Given the description of an element on the screen output the (x, y) to click on. 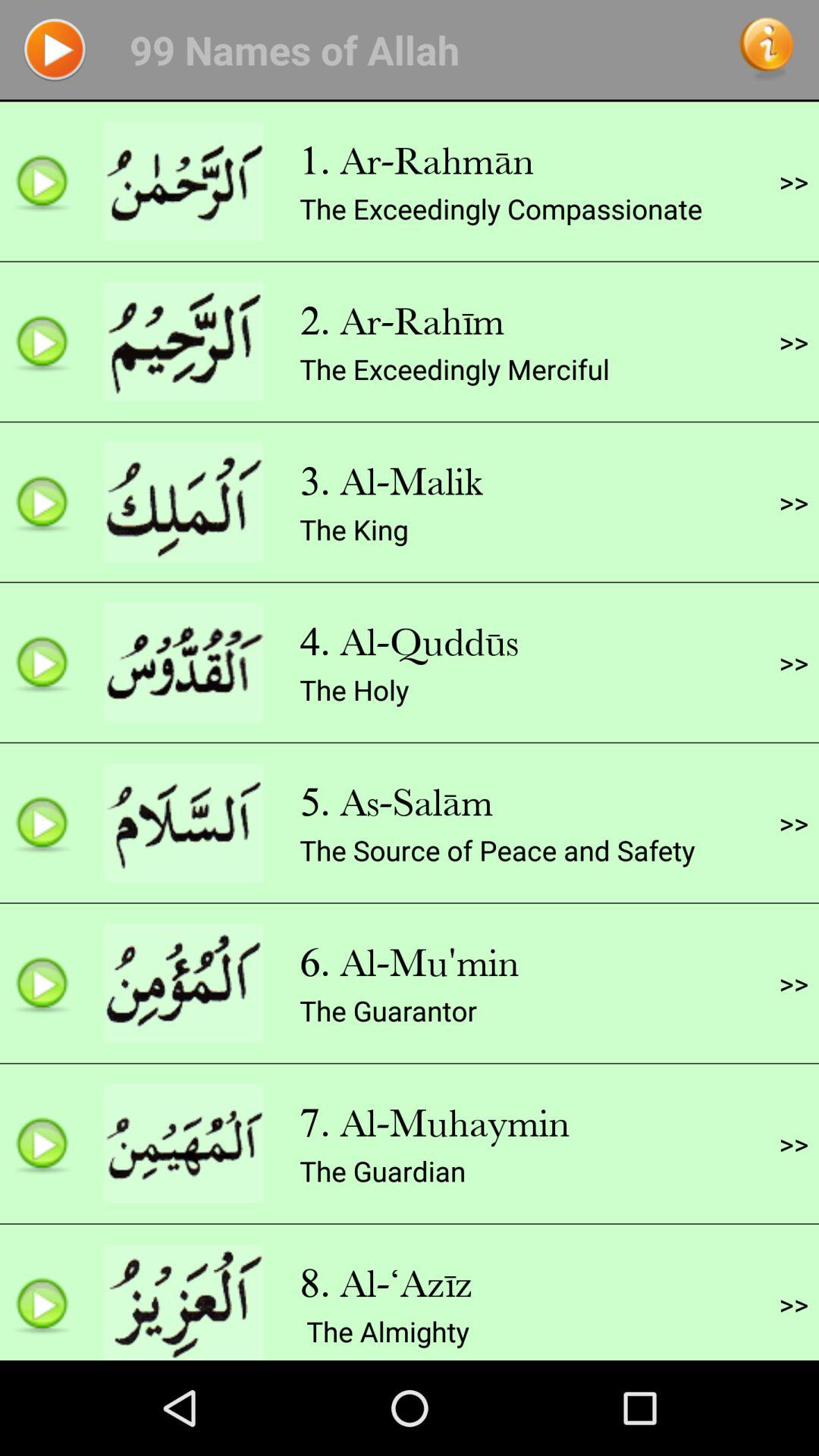
turn on item next to 99 names of app (54, 49)
